Given the description of an element on the screen output the (x, y) to click on. 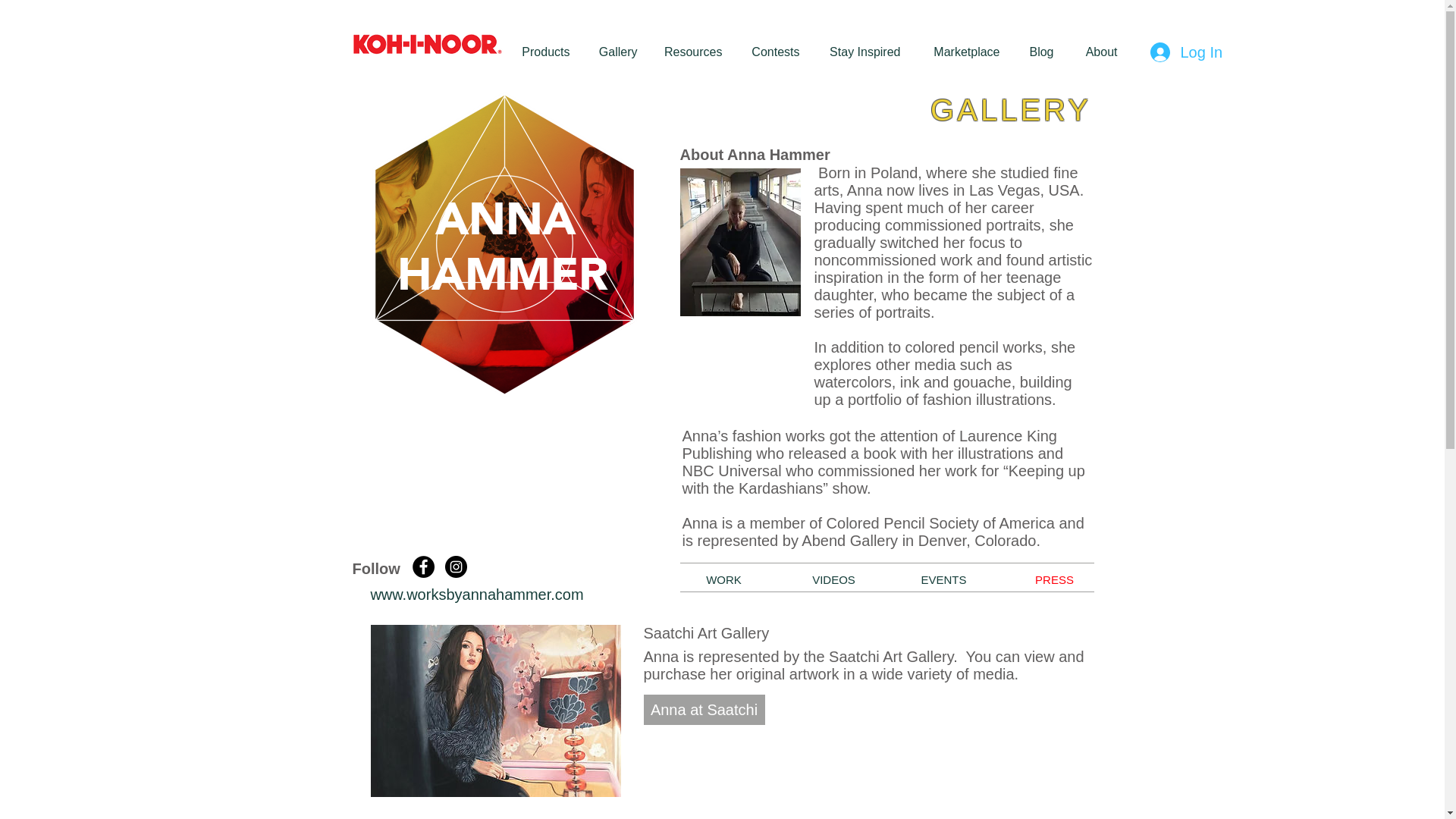
www.worksbyannahammer.com (476, 594)
Stay Inspired (861, 51)
About (1096, 51)
Anna at Saatchi (703, 709)
VIDEOS (833, 579)
Resources (691, 51)
WORK (723, 579)
Products (541, 51)
Blog (1038, 51)
PRESS (1053, 579)
EVENTS (943, 579)
Gallery (613, 51)
Marketplace (960, 51)
Contests (771, 51)
Log In (1184, 51)
